Given the description of an element on the screen output the (x, y) to click on. 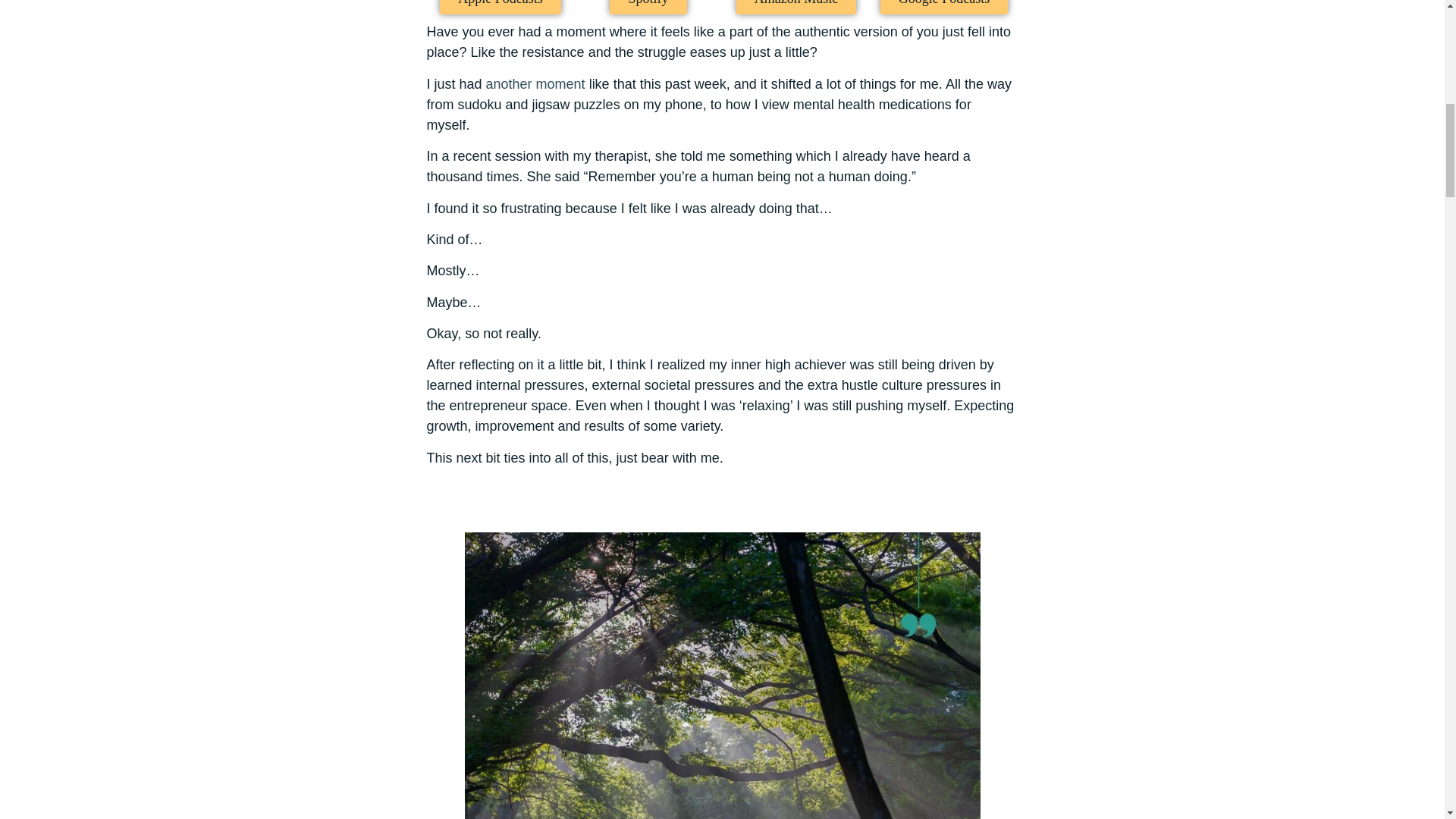
Spotify (647, 7)
Amazon Music (796, 7)
Apple Podcasts (499, 7)
Google Podcasts (944, 7)
another moment (535, 83)
